Given the description of an element on the screen output the (x, y) to click on. 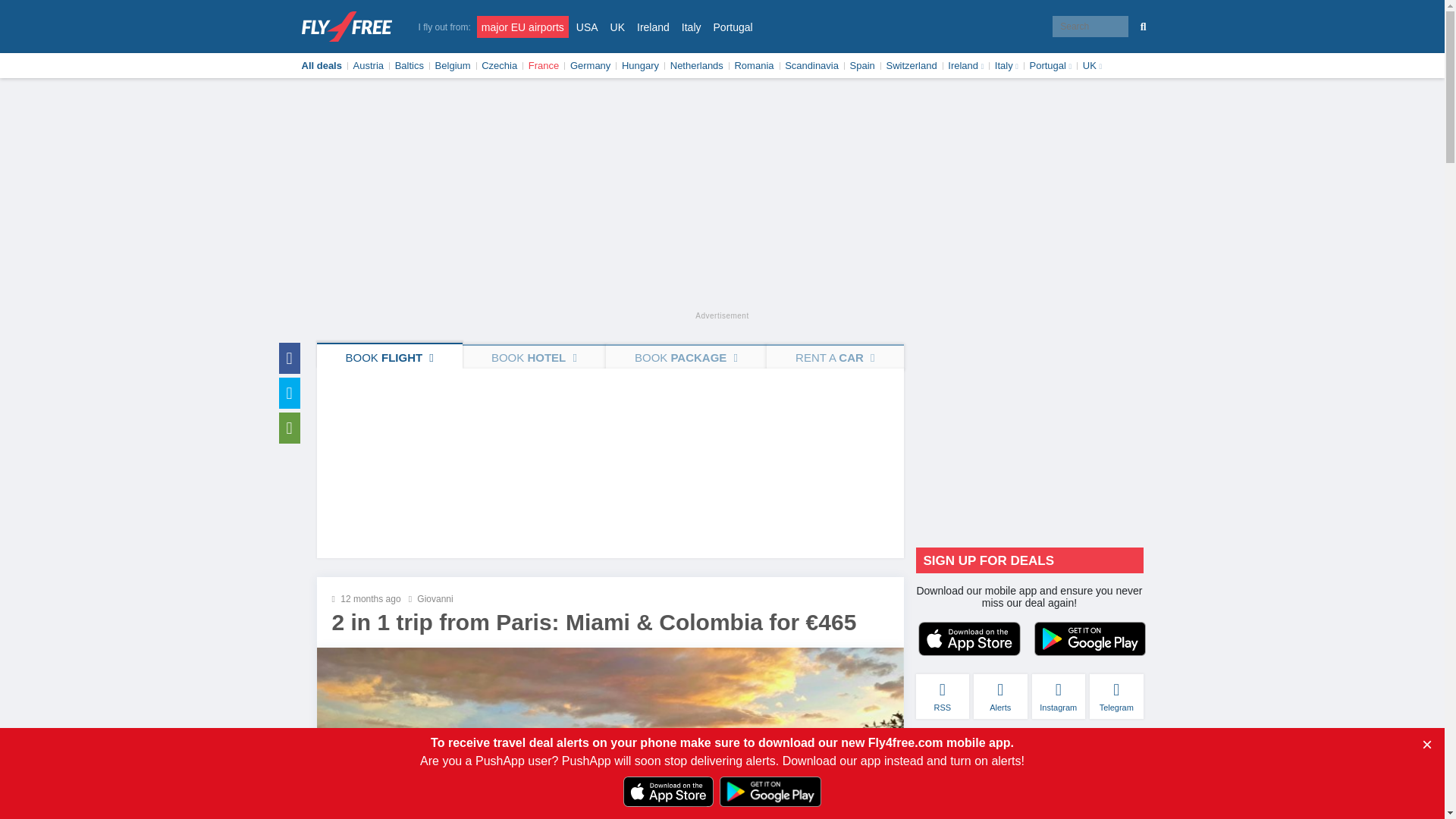
Spain (862, 65)
Flight deals from Italy (691, 25)
BOOK FLIGHT (390, 355)
BOOK HOTEL (534, 356)
Czechia (498, 65)
major EU airports (523, 25)
BOOK PACKAGE (686, 356)
Portugal (733, 25)
Flight deals from Europe (523, 25)
Flight deals from UK (587, 25)
